Given the description of an element on the screen output the (x, y) to click on. 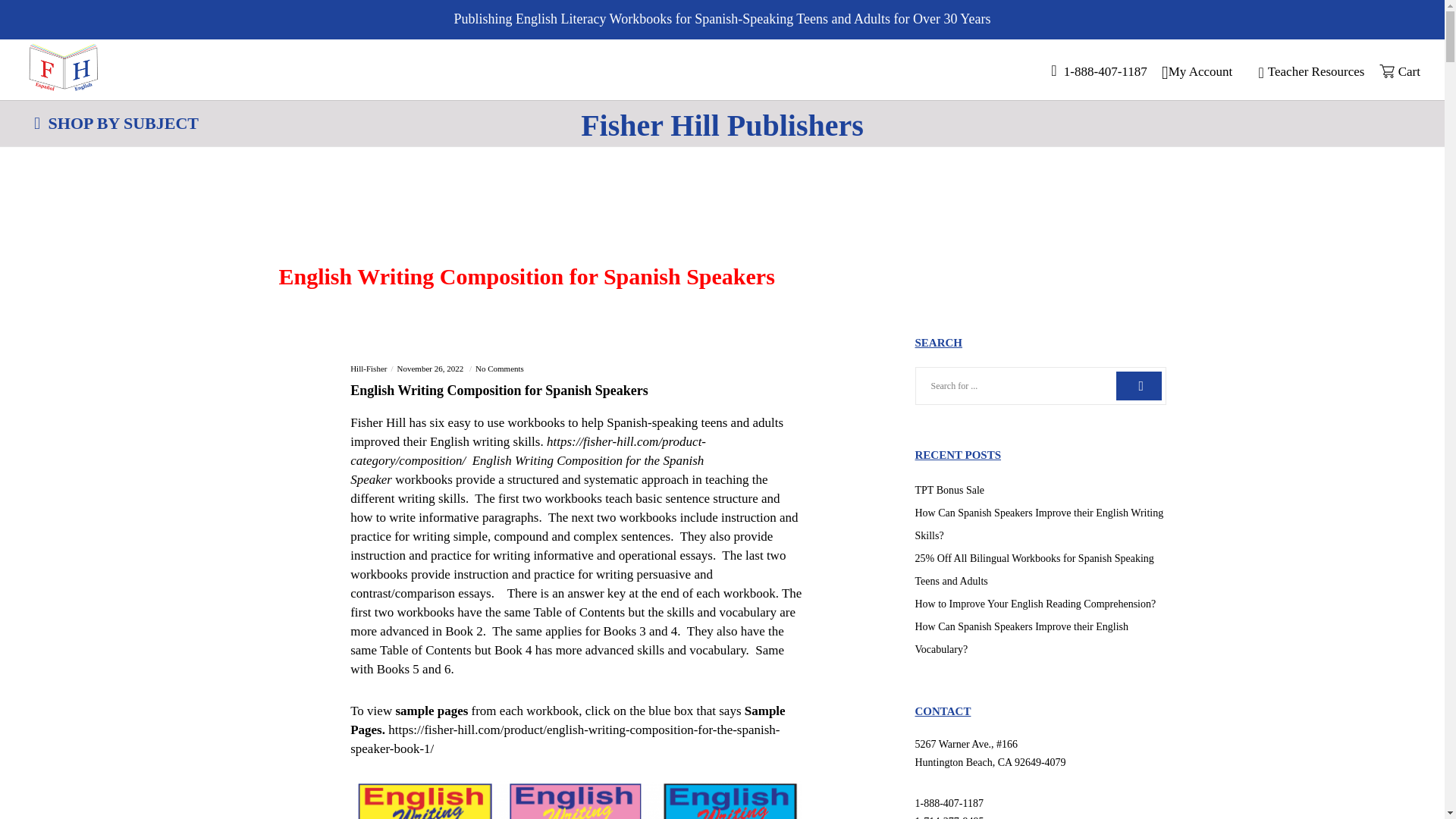
1-888-407-1187 (1093, 71)
My Basket (1394, 71)
Cart (1394, 71)
My Account (1196, 71)
Teacher Resources (1305, 71)
SHOP BY SUBJECT (116, 123)
English Writing Composition for Spanish Speakers (577, 399)
